Given the description of an element on the screen output the (x, y) to click on. 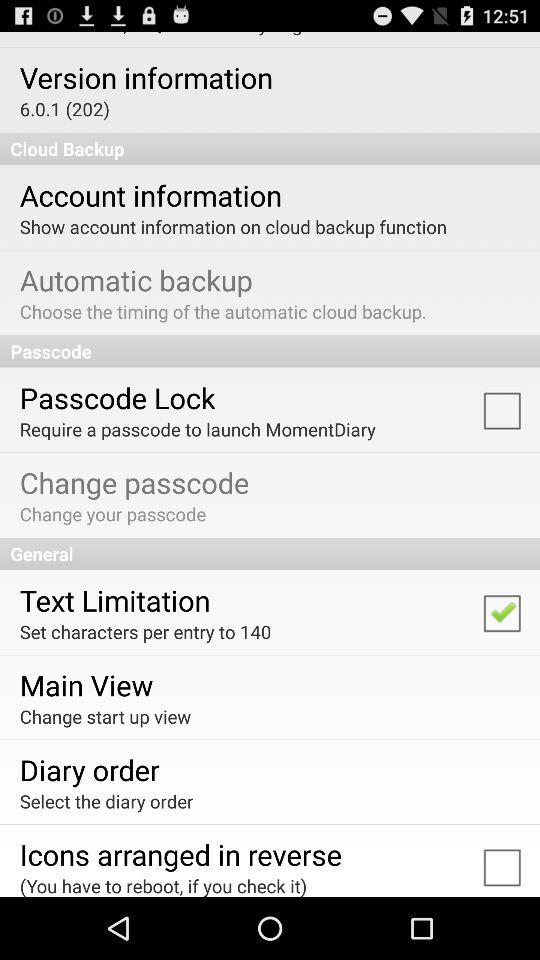
choose item below the select the diary icon (180, 854)
